Given the description of an element on the screen output the (x, y) to click on. 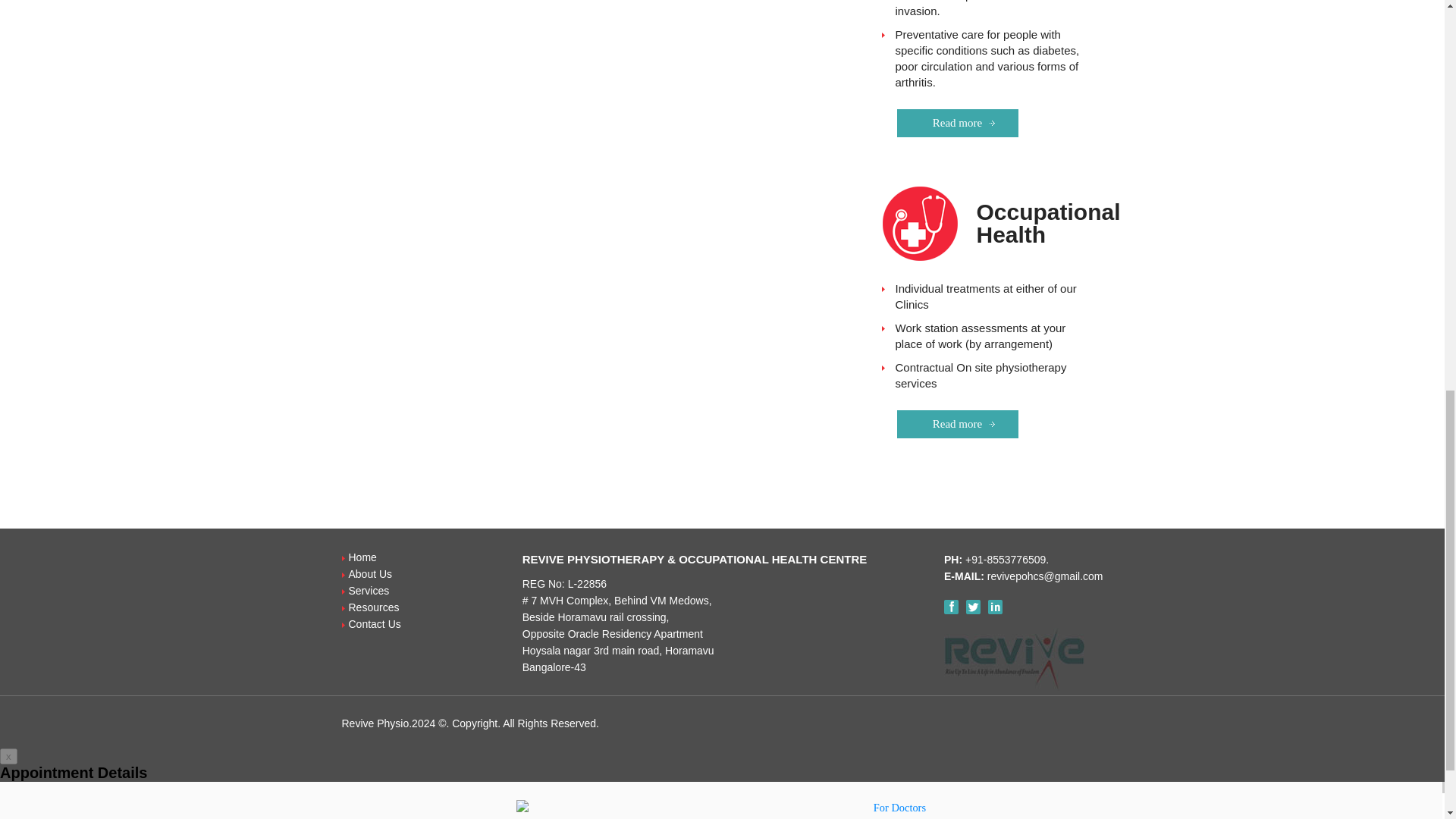
Resources (373, 607)
Contact Us (375, 623)
x (8, 756)
Services (369, 590)
Home (363, 557)
About Us (371, 573)
Read more (956, 122)
Read more (956, 424)
